Given the description of an element on the screen output the (x, y) to click on. 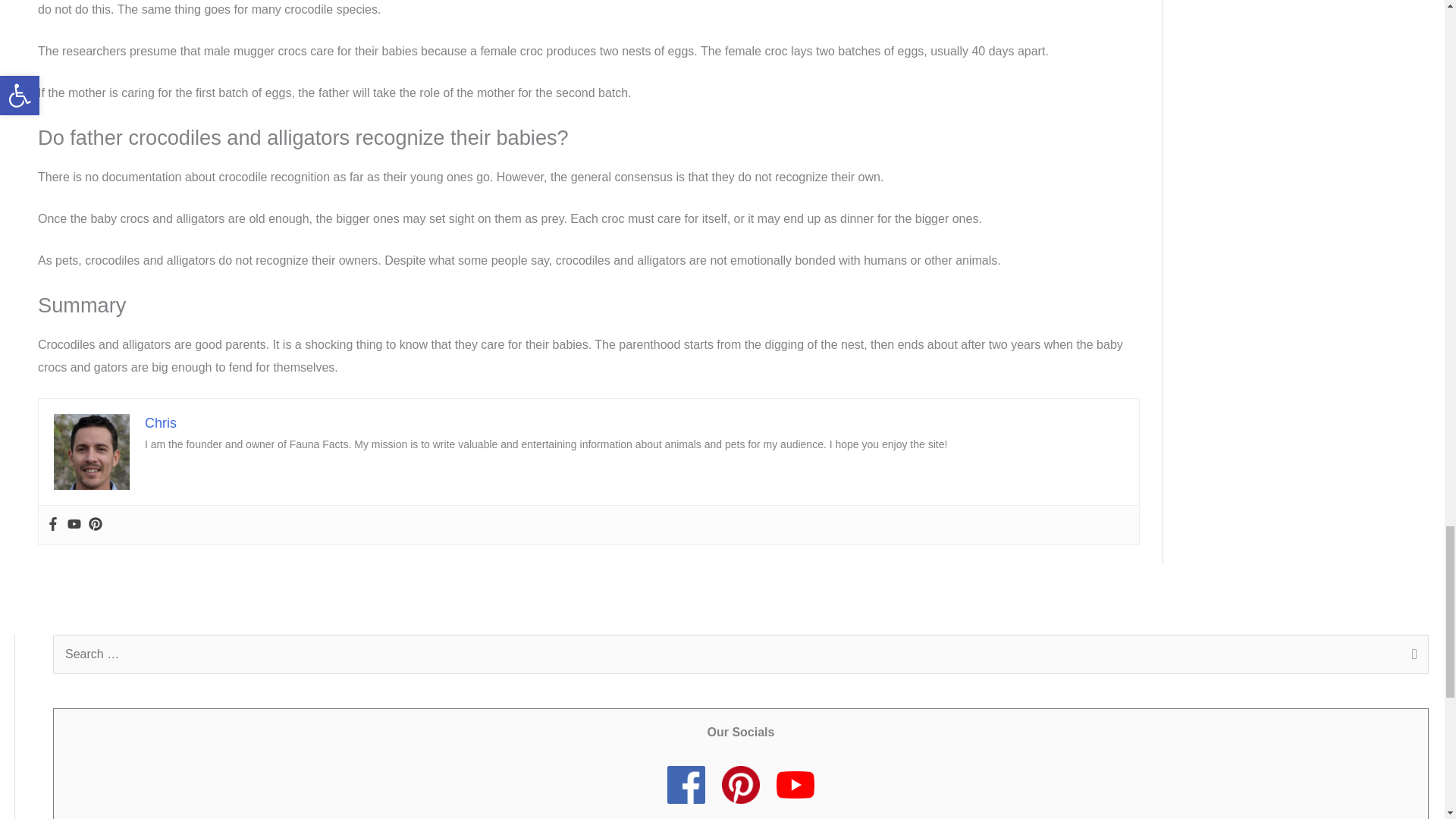
Facebook (52, 524)
Search (1411, 655)
Youtube (73, 524)
Pinterest (94, 524)
Search (1411, 655)
